Given the description of an element on the screen output the (x, y) to click on. 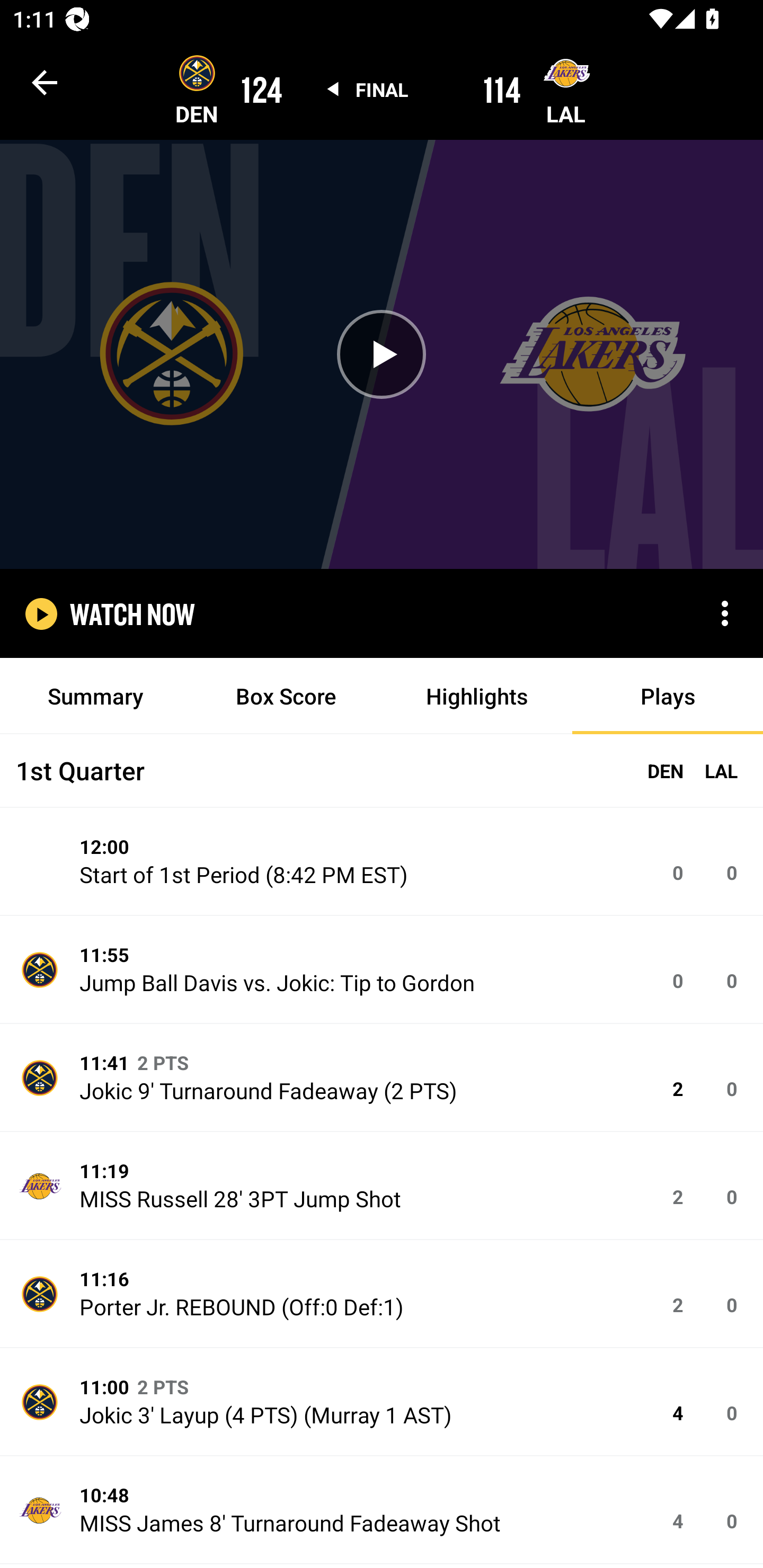
Navigate up (44, 82)
More options (724, 613)
WATCH NOW (132, 613)
Summary (95, 695)
Box Score (285, 695)
Highlights (476, 695)
